Given the description of an element on the screen output the (x, y) to click on. 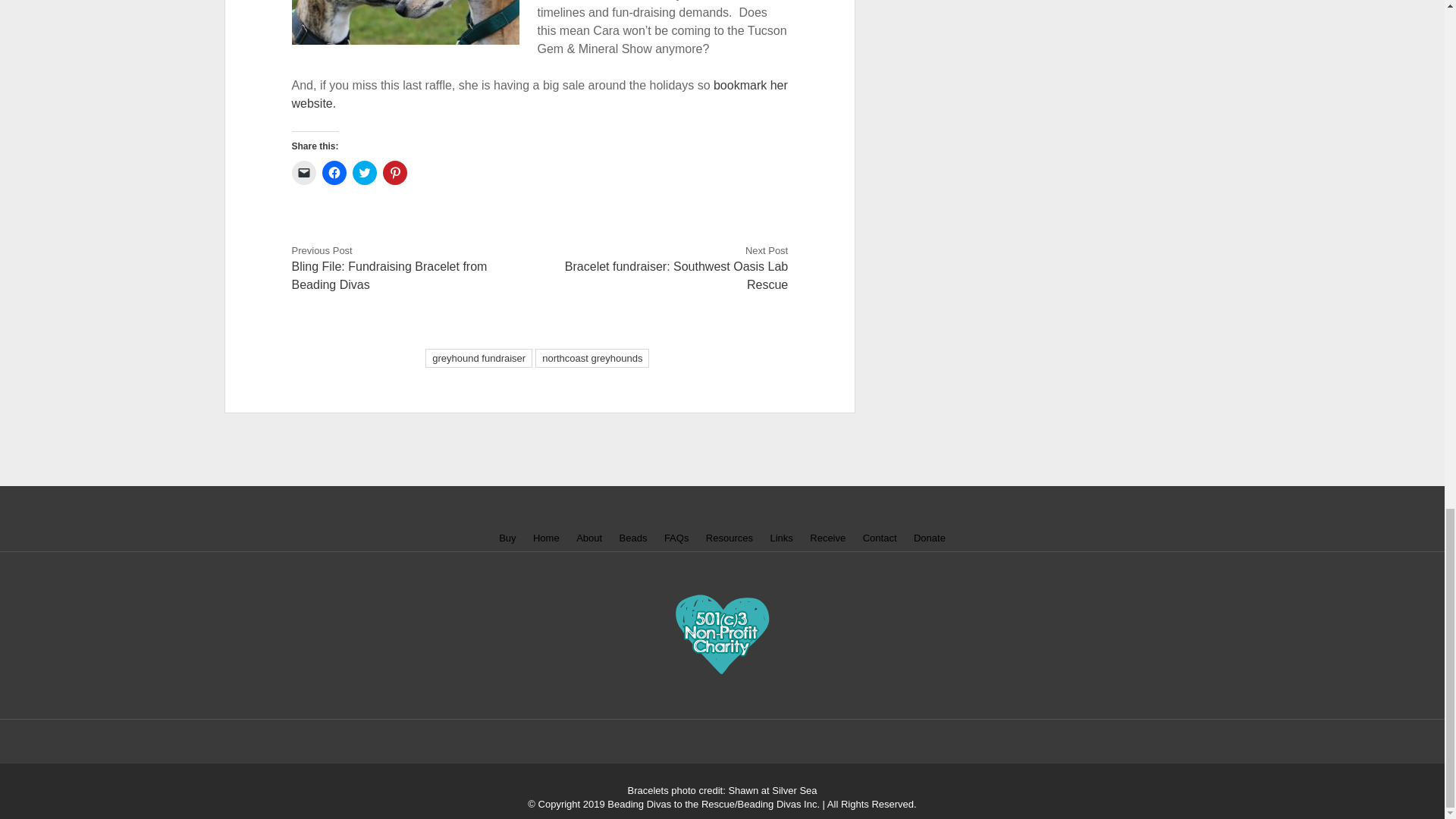
Click to share on Twitter (364, 172)
Bracelet fundraiser: Southwest Oasis Lab Rescue (675, 275)
View all posts tagged greyhound fundraiser (478, 357)
View all posts tagged northcoast greyhounds (591, 357)
Click to email a link to a friend (303, 172)
bookmark her website. (539, 93)
Bling File: Fundraising Bracelet from Beading Divas (389, 275)
Click to share on Pinterest (394, 172)
greyhound fundraiser (478, 357)
northcoast greyhounds (591, 357)
